Given the description of an element on the screen output the (x, y) to click on. 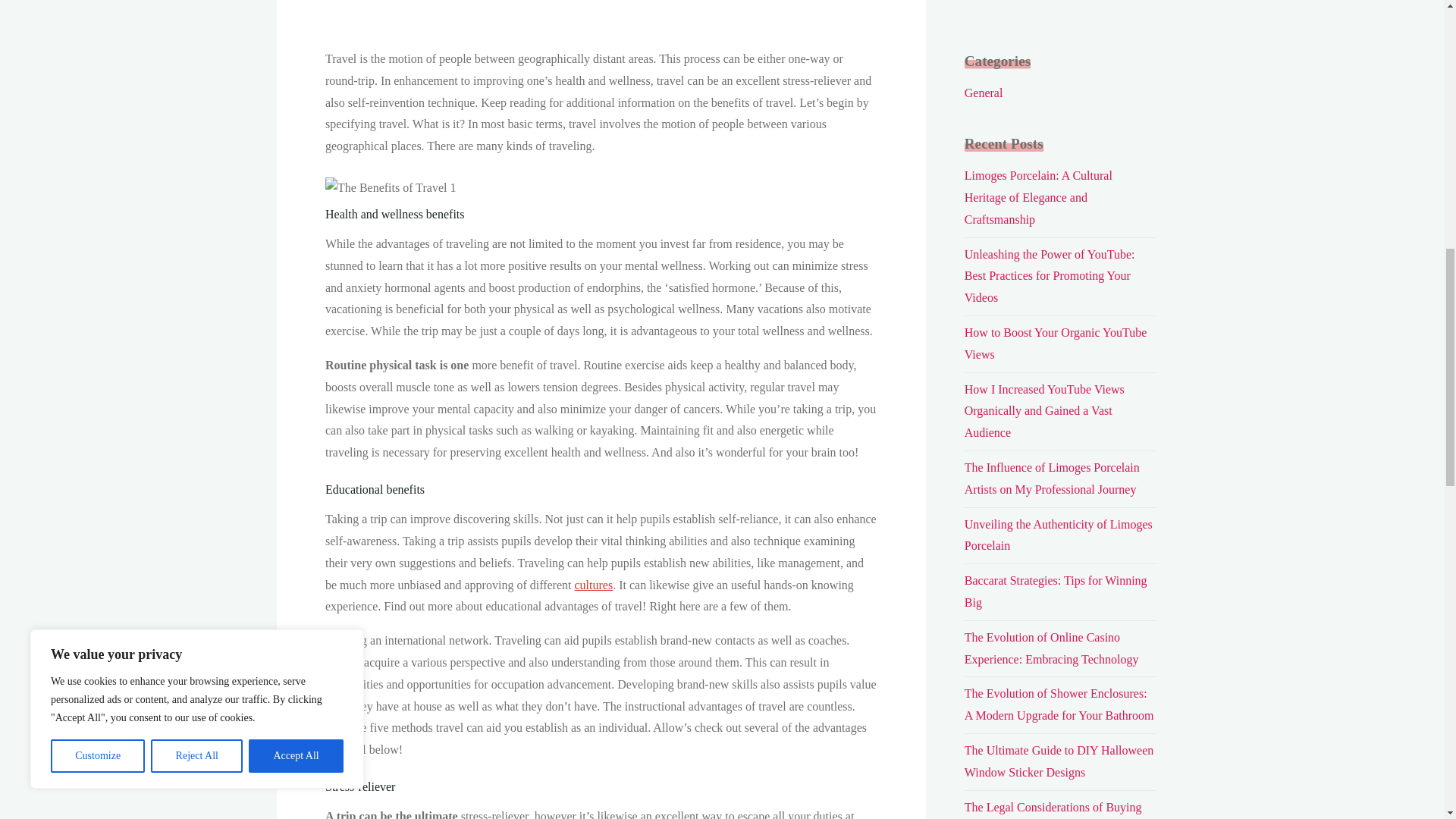
How to Boost Your Organic YouTube Views (1055, 343)
General (983, 92)
cultures (592, 584)
